Given the description of an element on the screen output the (x, y) to click on. 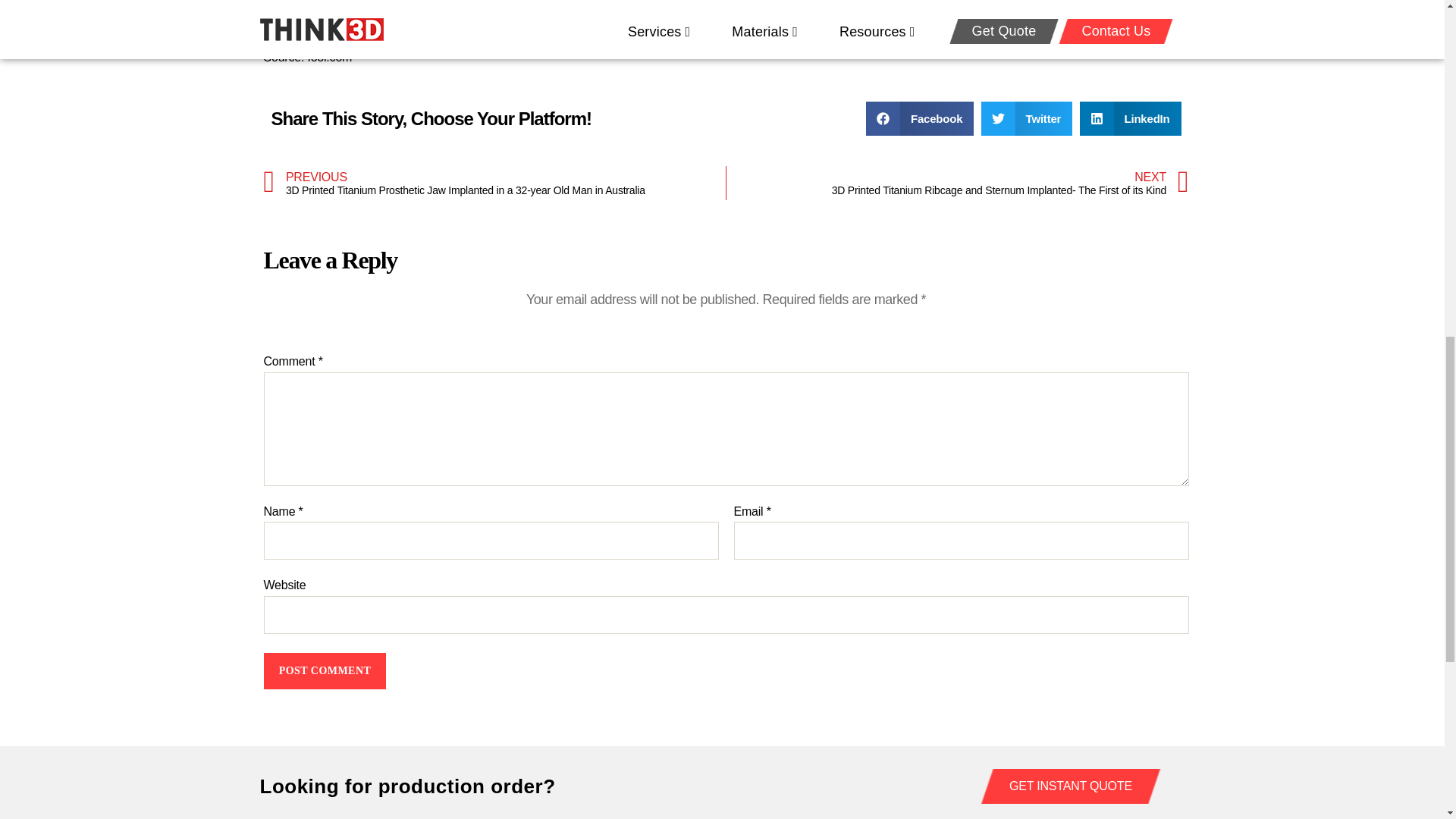
Post Comment (325, 670)
